Given the description of an element on the screen output the (x, y) to click on. 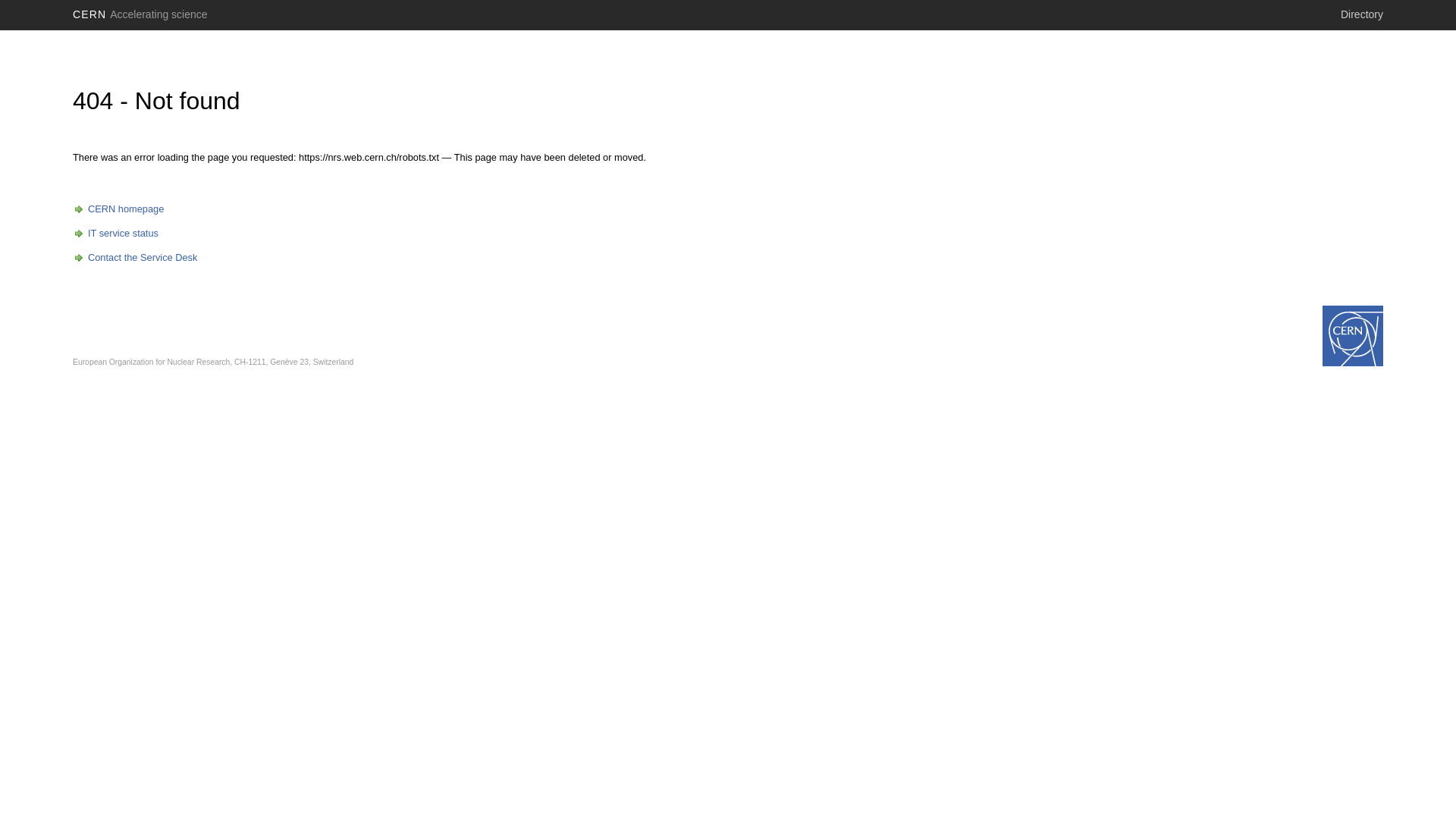
CERN Accelerating science Element type: text (139, 14)
Directory Element type: text (1361, 14)
www.cern.ch Element type: hover (1352, 335)
Contact the Service Desk Element type: text (134, 257)
IT service status Element type: text (115, 232)
CERN homepage Element type: text (117, 208)
